Given the description of an element on the screen output the (x, y) to click on. 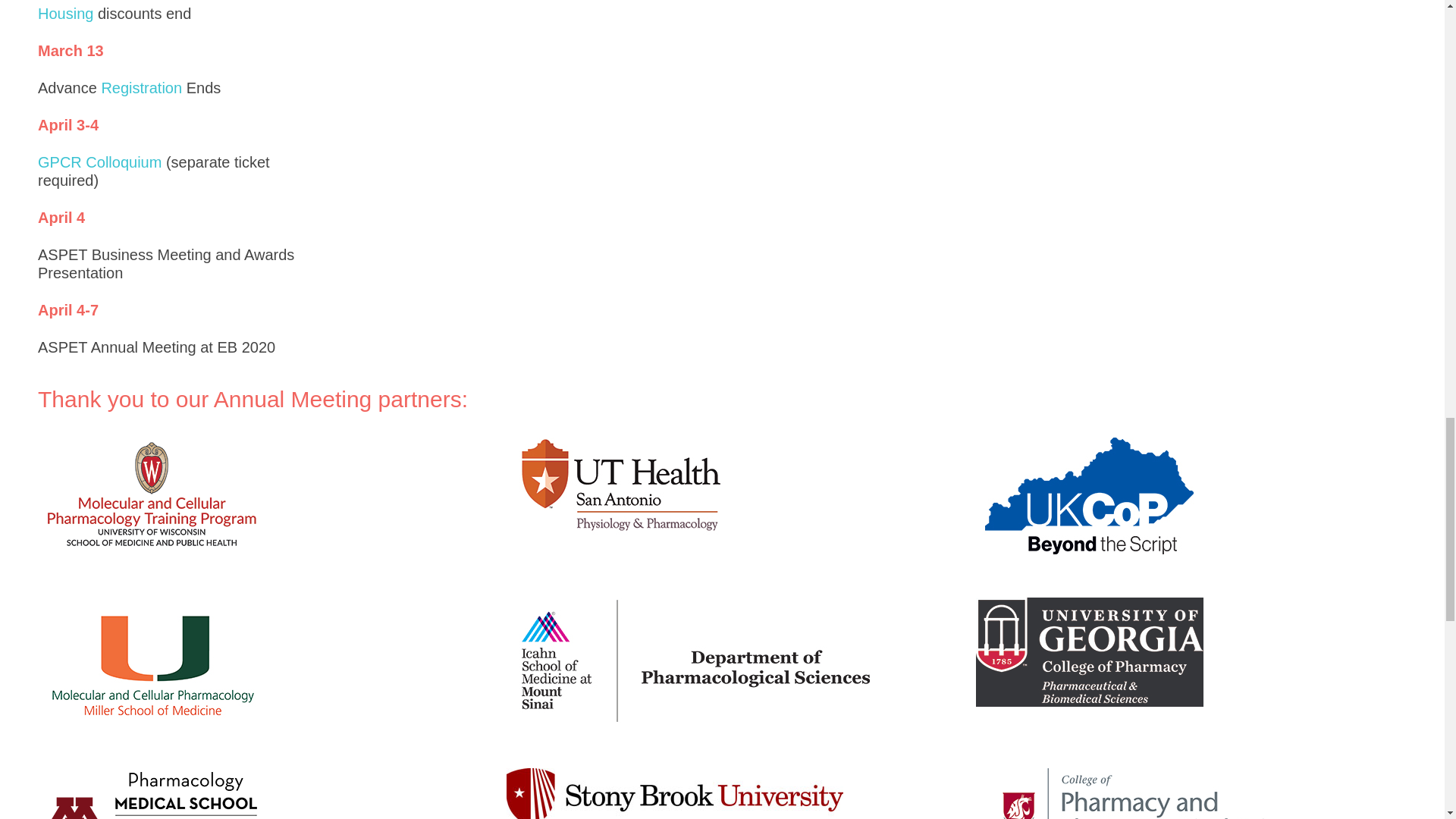
University of Kentucky (1089, 495)
WSU Pharm-Pharm Sciences Unit (1165, 793)
University of Minnesota (150, 793)
Icahn School (695, 660)
UM MCP Logo (150, 663)
University of Georgia (1089, 651)
Stony-Brook-Logo (674, 793)
